Given the description of an element on the screen output the (x, y) to click on. 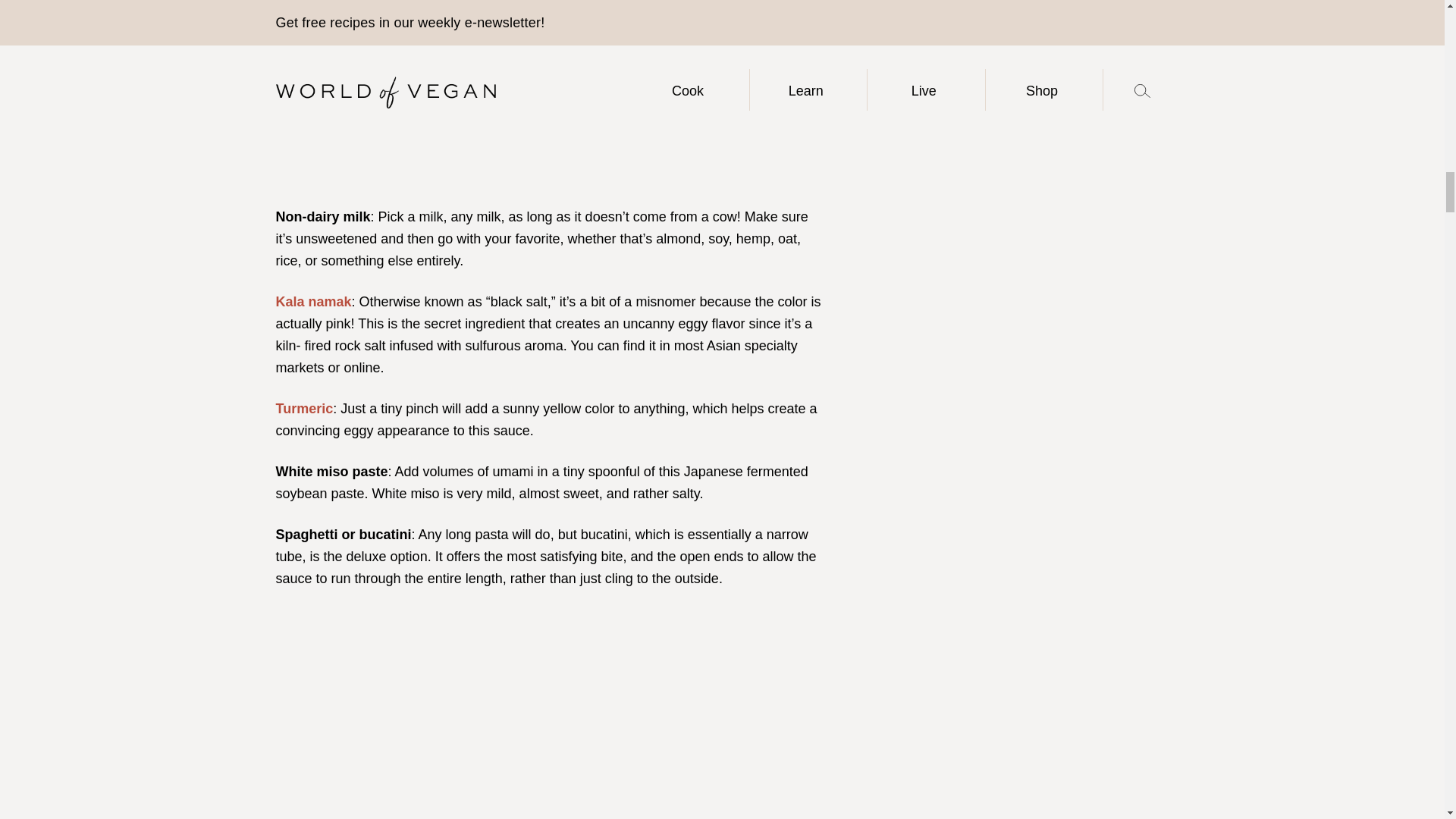
Turmeric (304, 408)
Kala namak (314, 301)
